Given the description of an element on the screen output the (x, y) to click on. 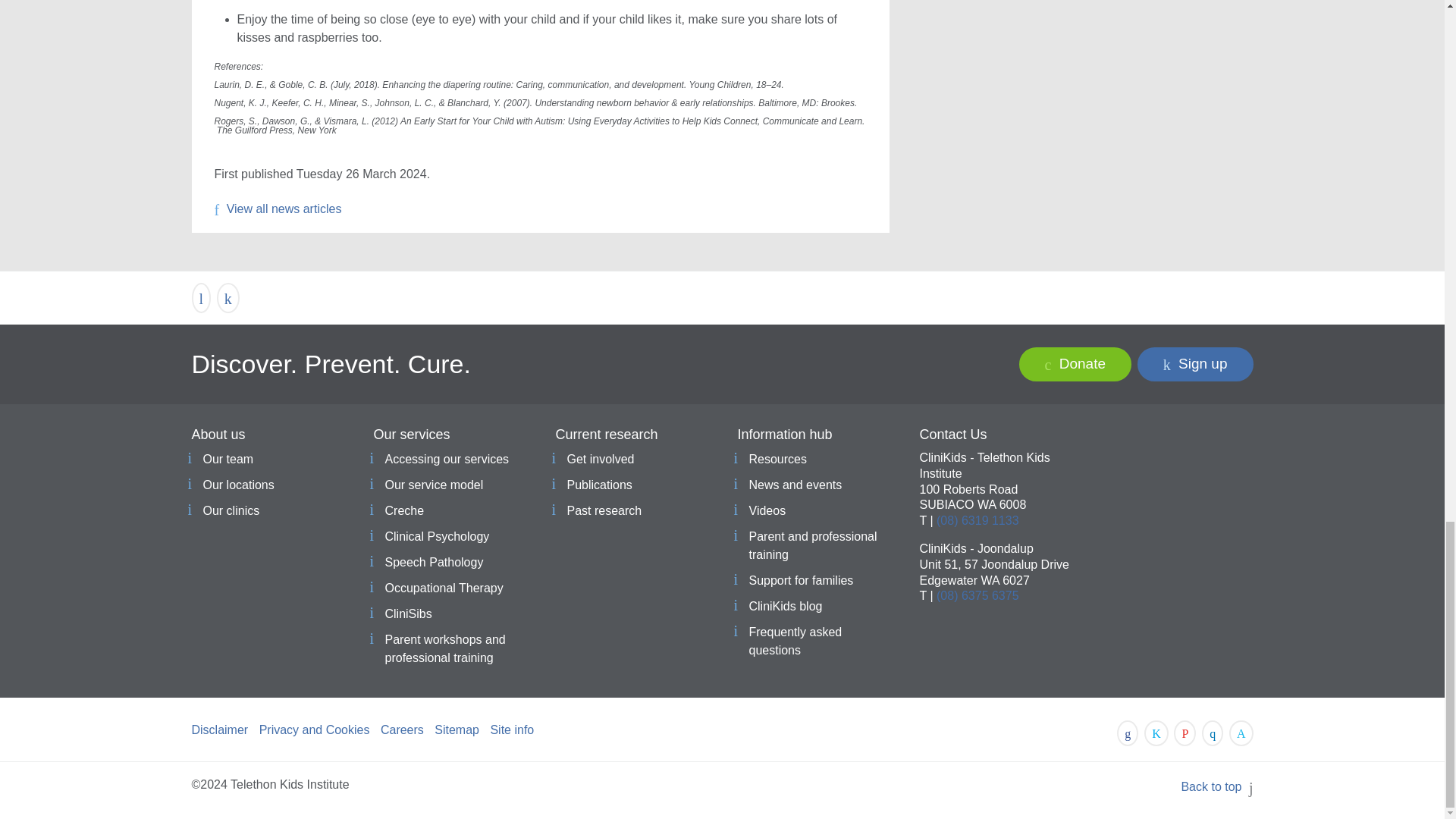
Print (200, 297)
Email Us (228, 297)
